Given the description of an element on the screen output the (x, y) to click on. 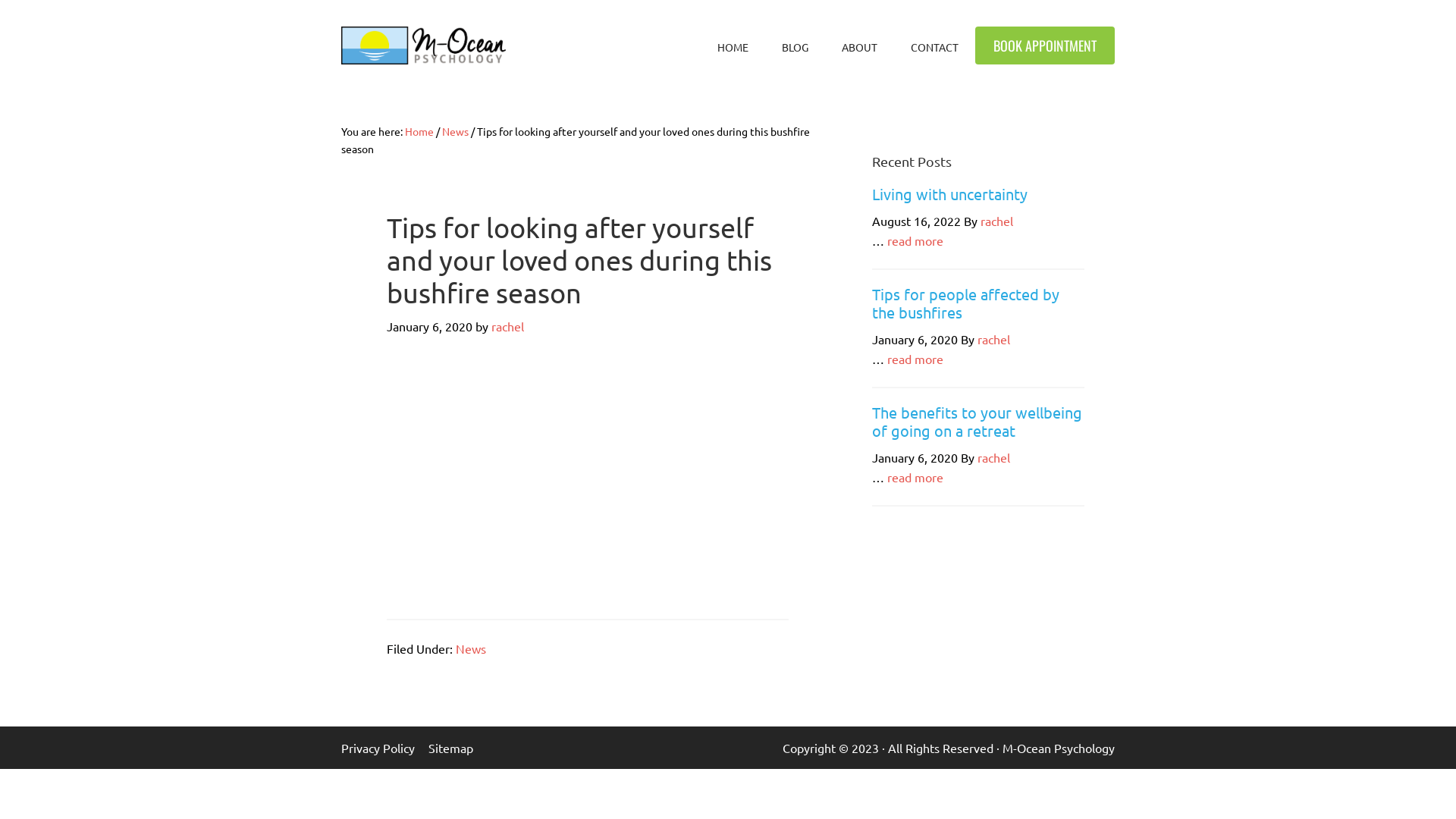
HOME Element type: text (732, 46)
News Element type: text (470, 647)
CONTACT Element type: text (934, 46)
read more Element type: text (915, 358)
rachel Element type: text (507, 325)
BOOK APPOINTMENT Element type: text (1044, 45)
News Element type: text (455, 131)
Privacy Policy Element type: text (384, 747)
read more Element type: text (915, 476)
ABOUT Element type: text (859, 46)
read more Element type: text (915, 239)
rachel Element type: text (993, 456)
BLOG Element type: text (795, 46)
rachel Element type: text (996, 220)
Living with uncertainty Element type: text (949, 193)
rachel Element type: text (993, 338)
M-Ocean Psychology Mansfield Element type: text (423, 45)
The benefits to your wellbeing of going on a retreat Element type: text (977, 420)
Tips for people affected by the bushfires Element type: text (965, 302)
Home Element type: text (418, 131)
Sitemap Element type: text (457, 747)
